Given the description of an element on the screen output the (x, y) to click on. 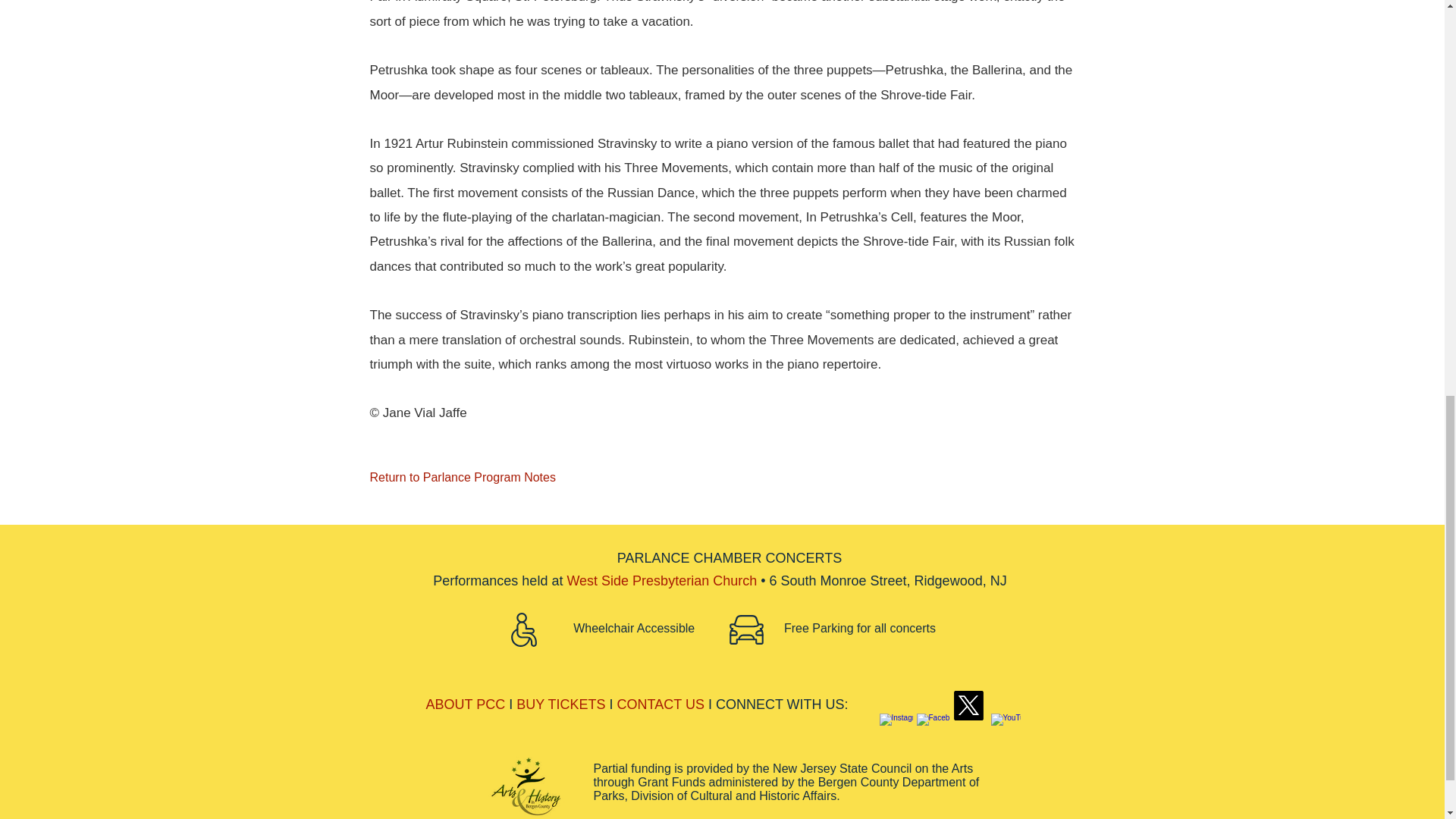
ABOUT PCC (465, 703)
West Side Presbyterian Church (661, 580)
Return to Parlance Program Notes (471, 478)
CONTACT US (660, 703)
BUY TICKETS (560, 703)
